Given the description of an element on the screen output the (x, y) to click on. 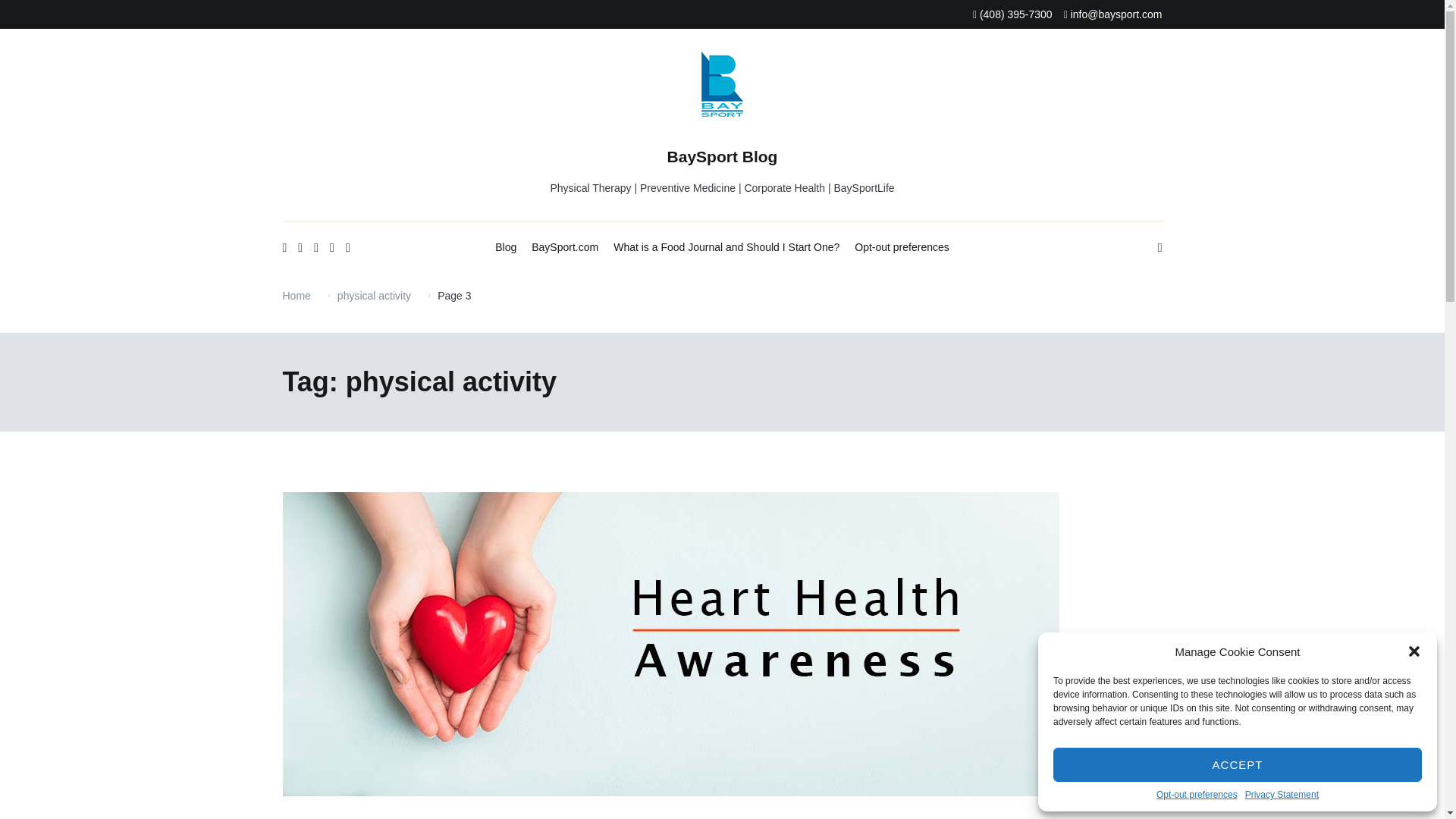
Opt-out preferences (1196, 794)
Opt-out preferences (901, 248)
BaySport Blog (721, 156)
BaySport.com (564, 248)
Privacy Statement (1281, 794)
What is a Food Journal and Should I Start One? (726, 248)
physical activity (373, 295)
Home (296, 295)
ACCEPT (1237, 764)
Blog (505, 248)
